Given the description of an element on the screen output the (x, y) to click on. 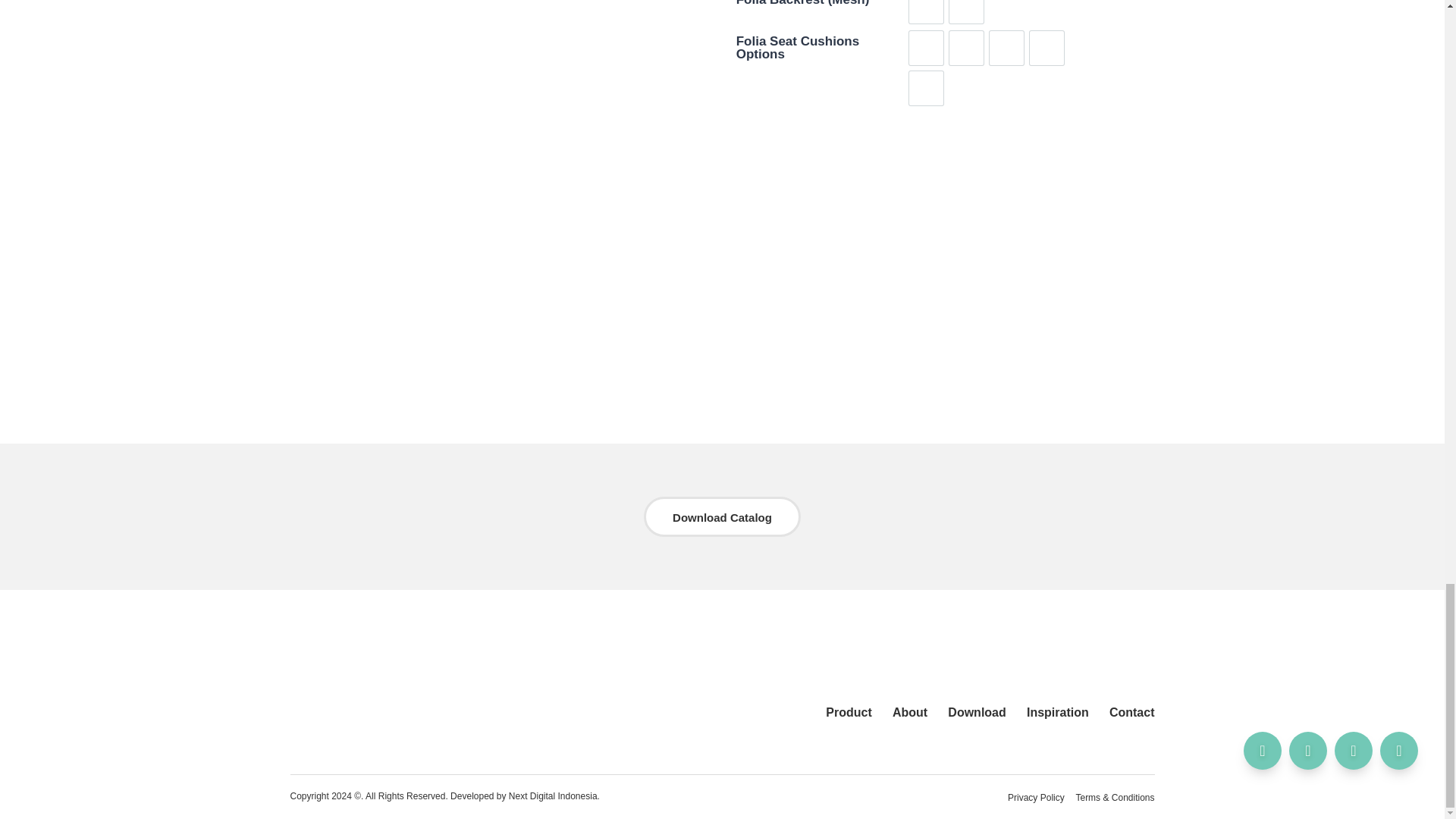
KCTR6 (966, 48)
Download (976, 712)
Inspiration (1057, 712)
Contact (1126, 712)
Product (848, 712)
Download Catalog (721, 516)
About (909, 712)
Privacy Policy (1035, 798)
Gray (966, 11)
Black (925, 11)
KCTQ5 (925, 48)
